Given the description of an element on the screen output the (x, y) to click on. 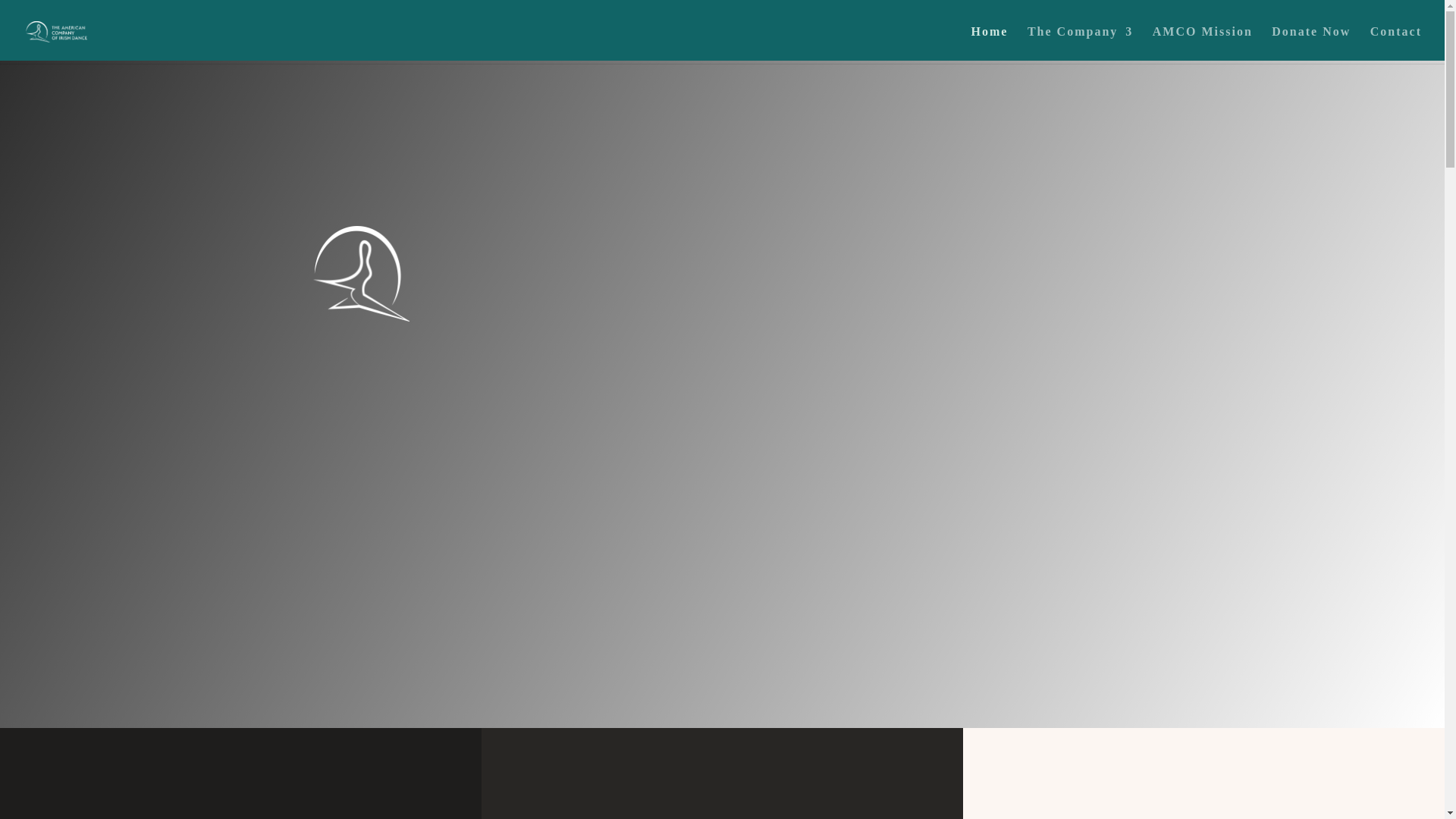
cropped-amco-512x512-white.png (361, 274)
The Company (1079, 44)
Donate Now (1311, 44)
AMCO Mission (1202, 44)
Home (990, 44)
Contact (1396, 44)
